Given the description of an element on the screen output the (x, y) to click on. 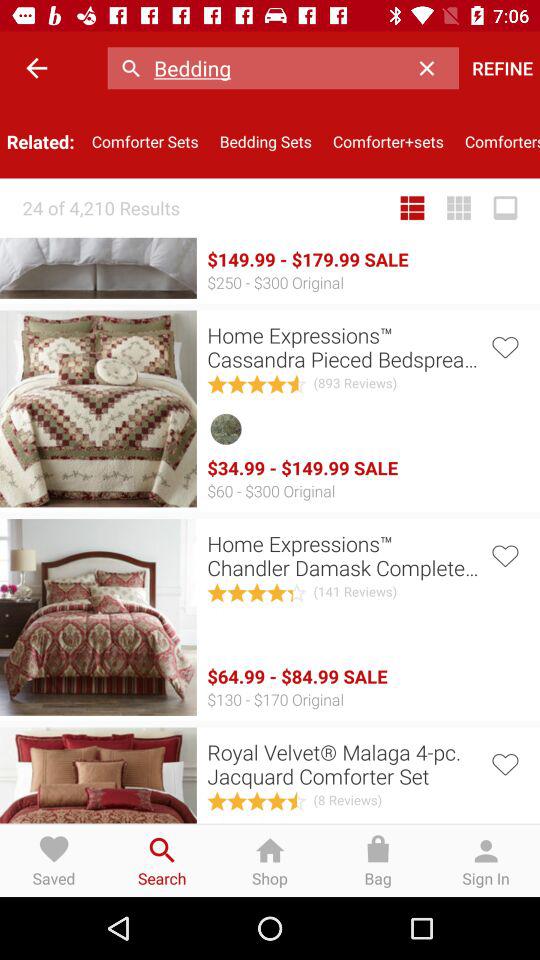
add to wishlist (504, 345)
